Given the description of an element on the screen output the (x, y) to click on. 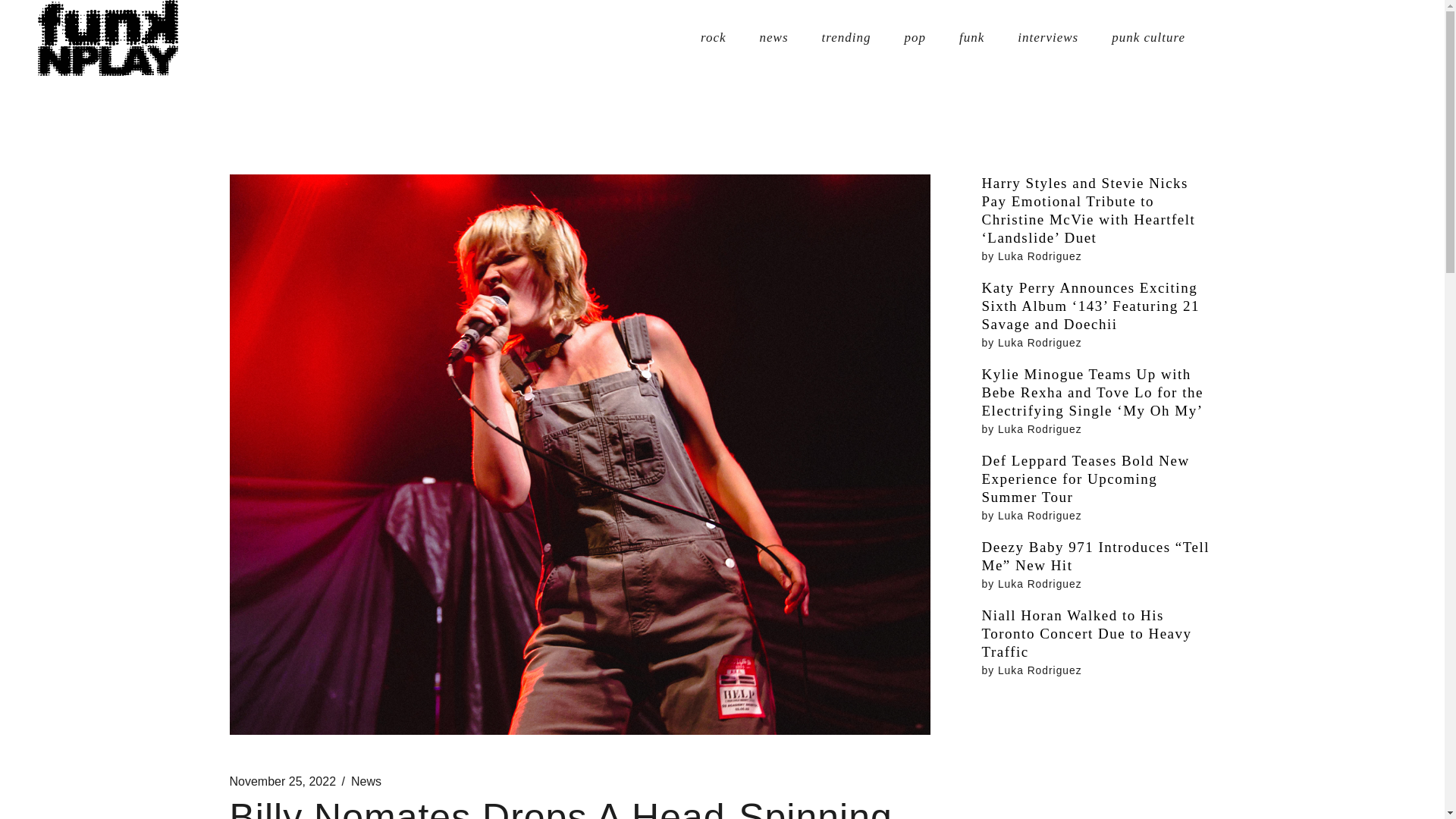
November 25, 2022 (282, 781)
interviews (1048, 38)
News (365, 781)
punk culture (1147, 38)
